Given the description of an element on the screen output the (x, y) to click on. 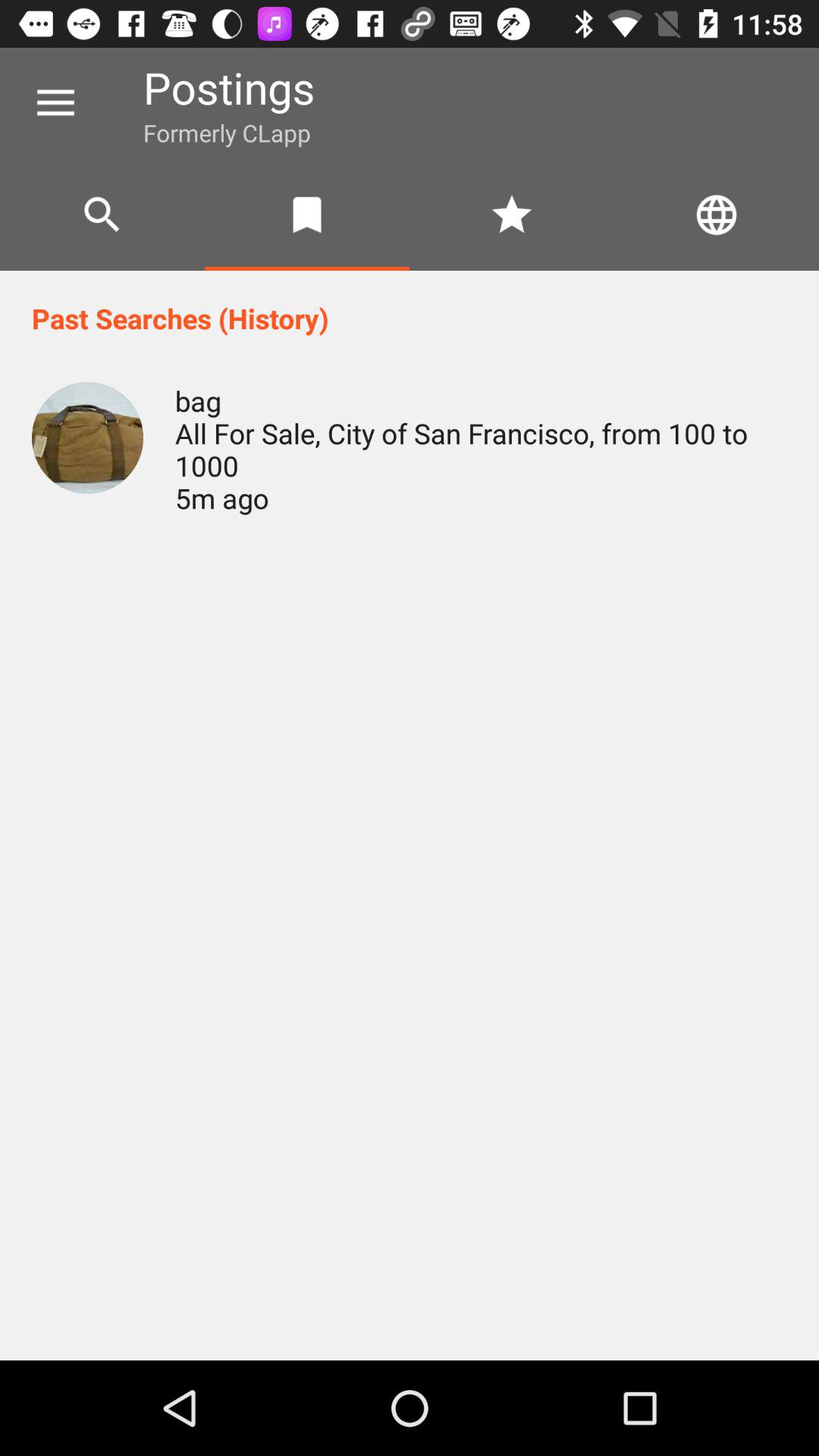
press the icon below past searches (history) item (87, 437)
